Given the description of an element on the screen output the (x, y) to click on. 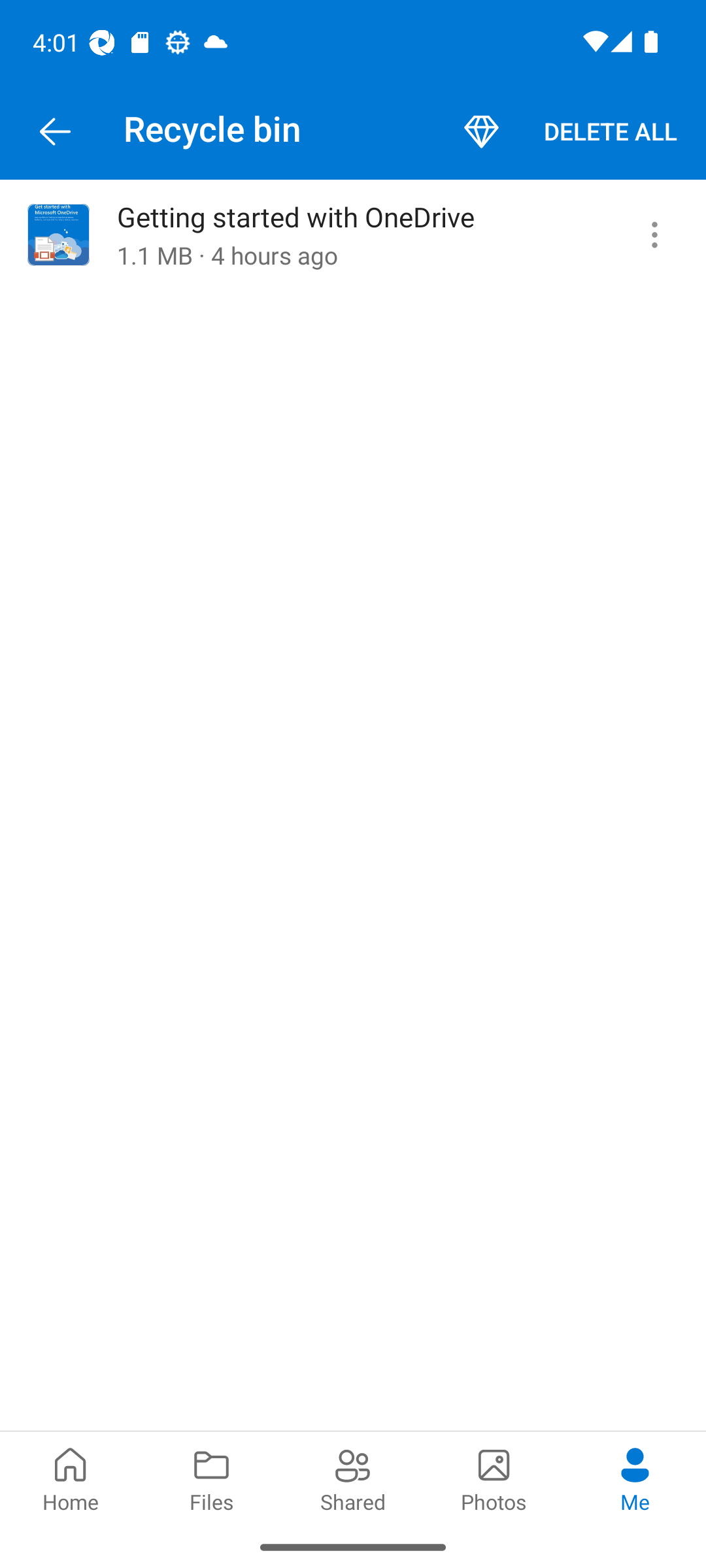
Navigate Up (55, 131)
Premium button (481, 131)
DELETE ALL Delete all button (610, 131)
Getting started with OneDrive commands (654, 235)
Home pivot Home (70, 1478)
Files pivot Files (211, 1478)
Shared pivot Shared (352, 1478)
Photos pivot Photos (493, 1478)
